Given the description of an element on the screen output the (x, y) to click on. 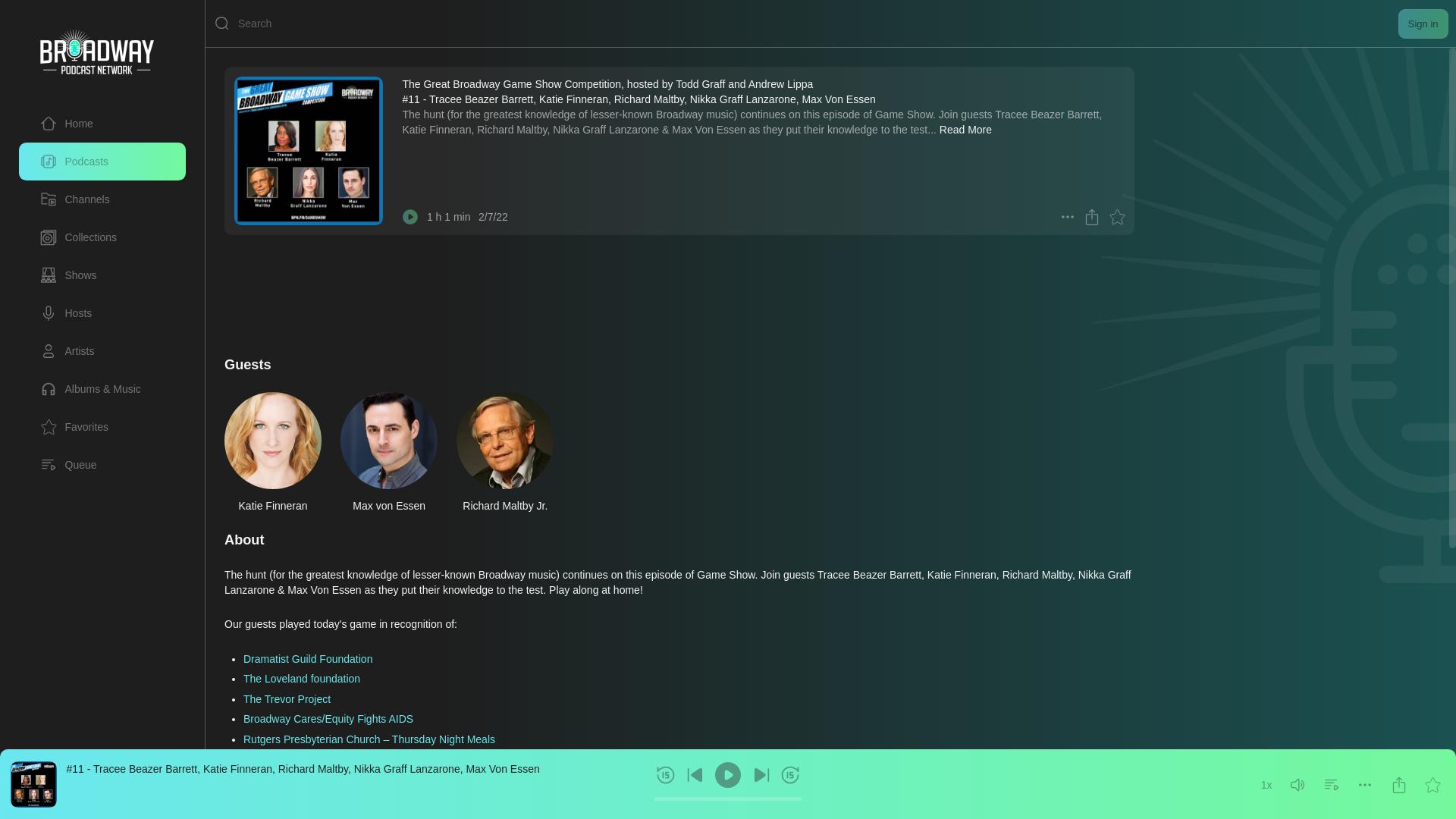
Podcasts (73, 161)
3rd party ad content (591, 287)
Shows (68, 274)
Queue (102, 464)
Home (66, 123)
Queue (68, 464)
Hosts (102, 313)
Home (102, 123)
Hosts (65, 312)
Podcasts (102, 161)
Shows (102, 275)
Collections (102, 237)
Sign in (1422, 23)
Collections (78, 237)
Artists (67, 351)
